Given the description of an element on the screen output the (x, y) to click on. 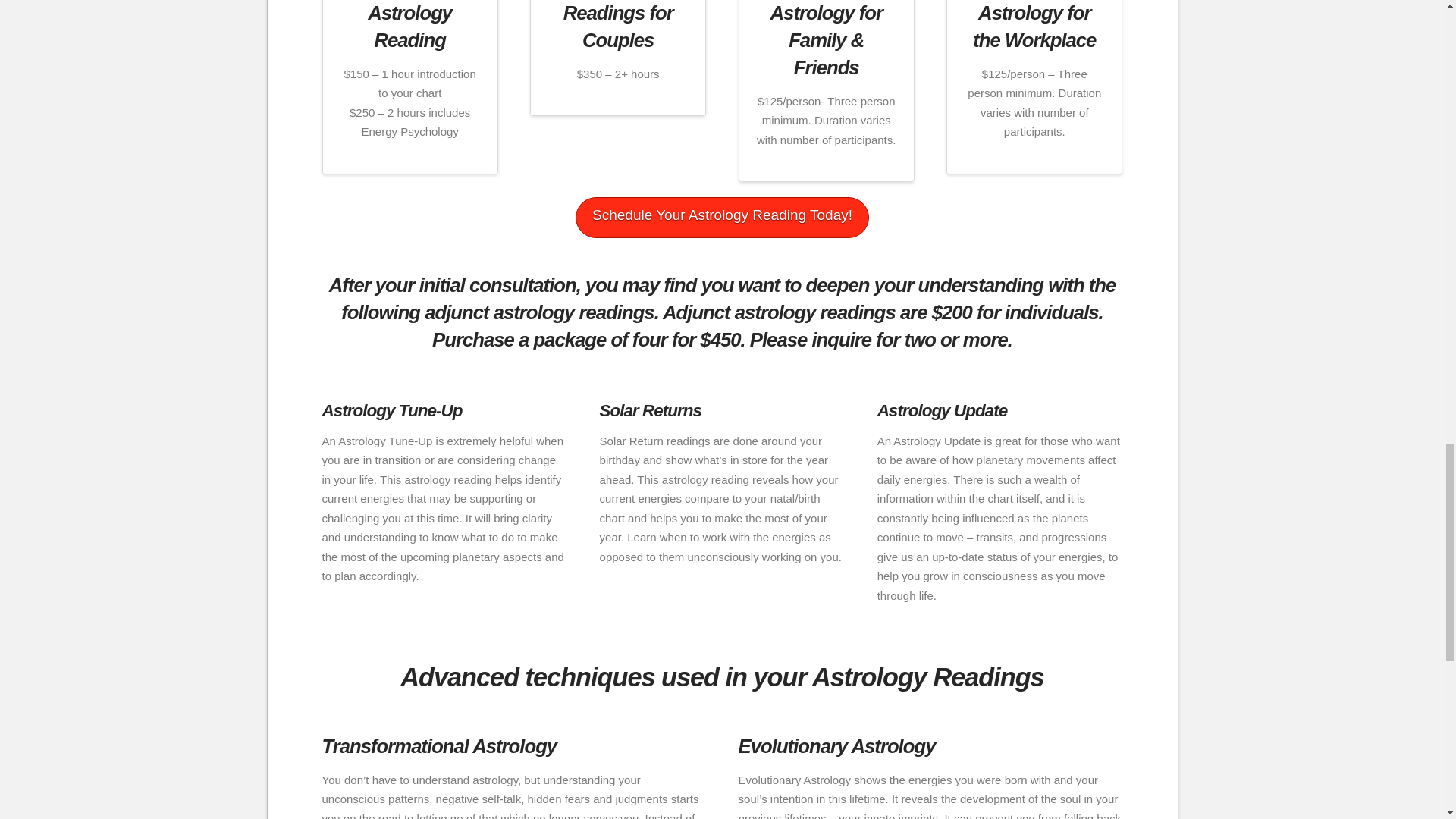
Schedule Your Astrology Reading Today! (722, 217)
